Given the description of an element on the screen output the (x, y) to click on. 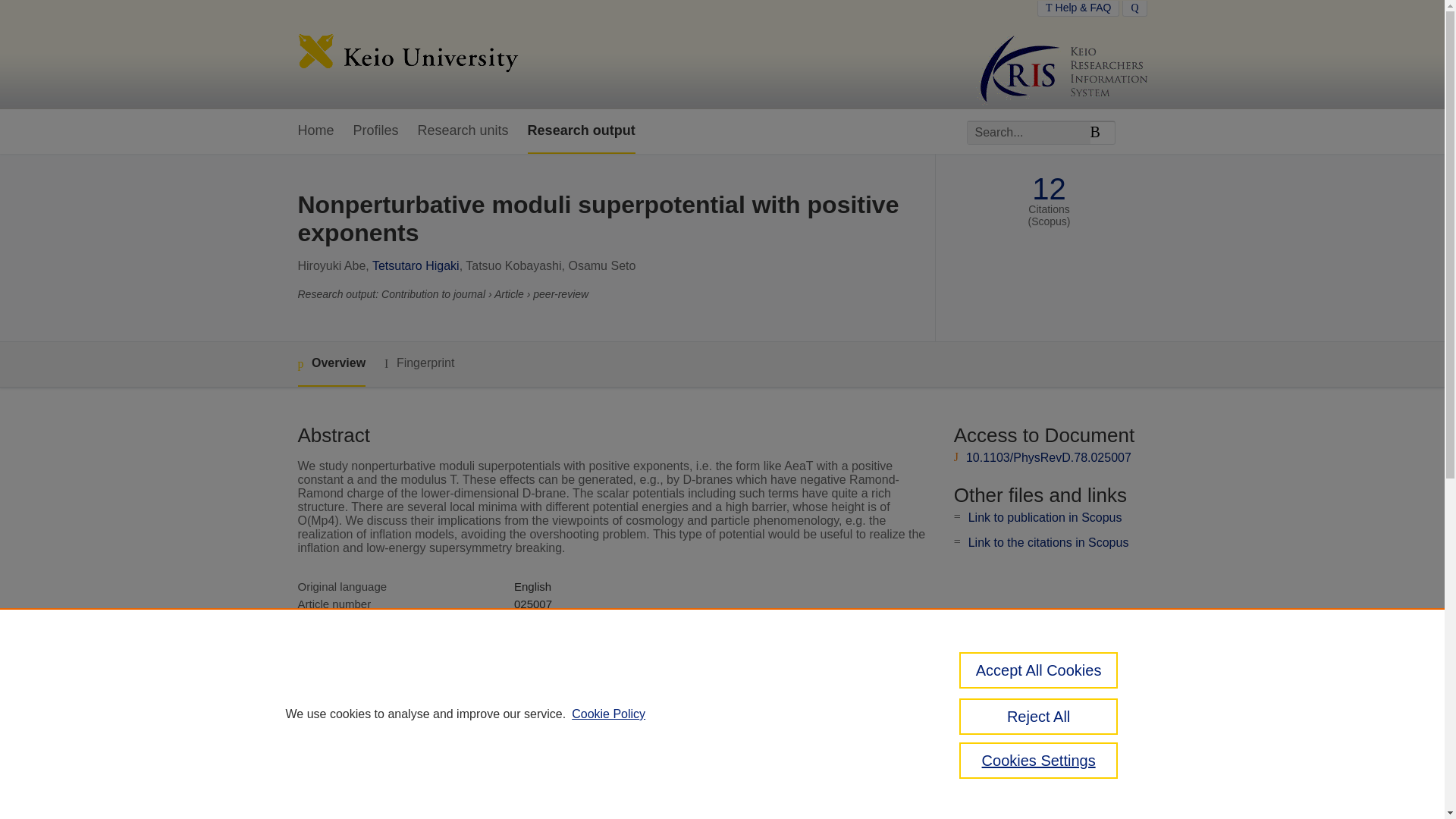
Fingerprint (419, 363)
12 (1048, 189)
Cookies Settings (1038, 760)
Keio University Home (407, 54)
Link to the citations in Scopus (1048, 542)
Overview (331, 364)
Profiles (375, 130)
Research units (462, 130)
Tetsutaro Higaki (416, 265)
Reject All (1038, 716)
Cookie Policy (608, 713)
Link to publication in Scopus (1045, 517)
Research output (580, 130)
